Given the description of an element on the screen output the (x, y) to click on. 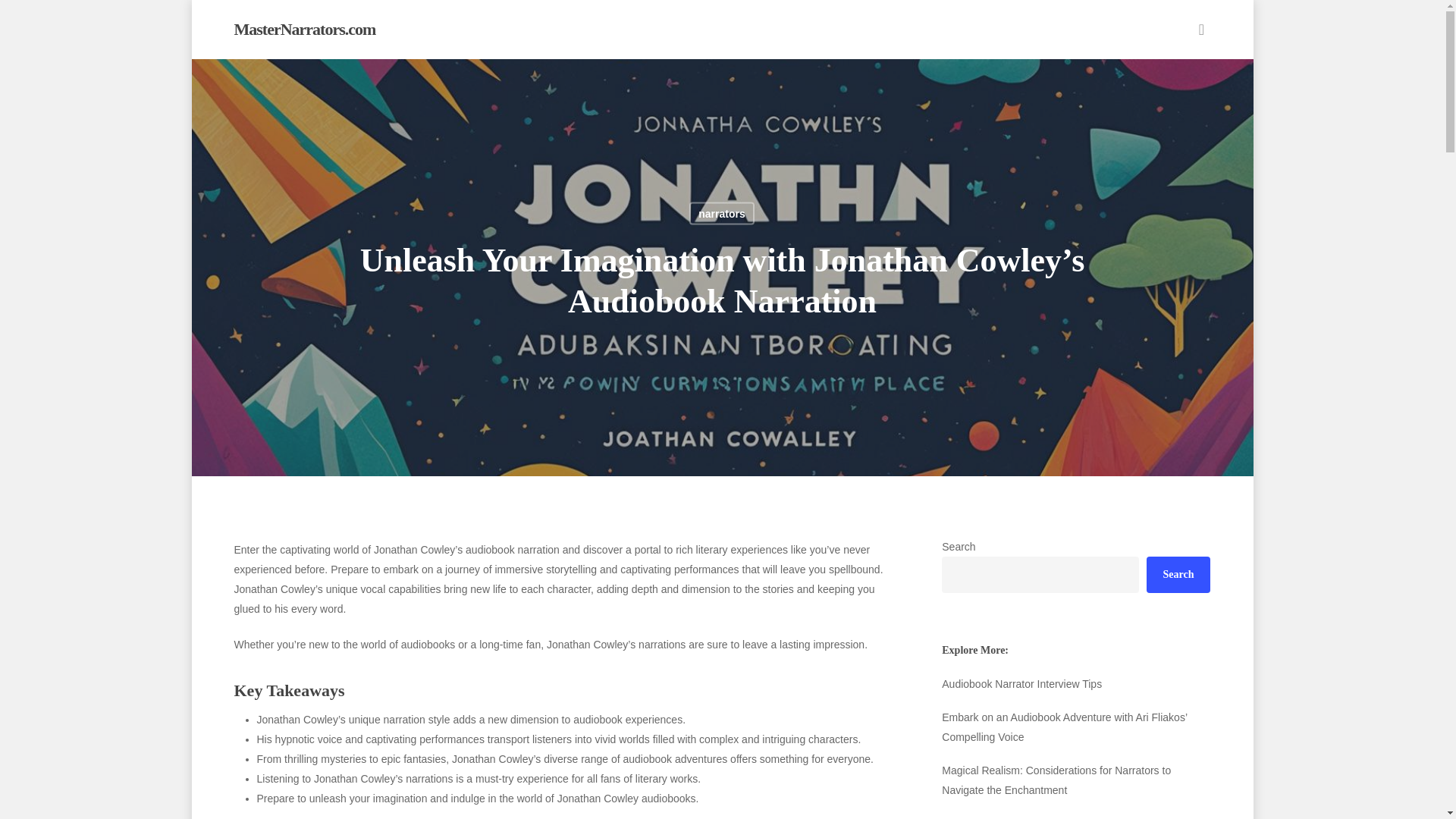
Search (1179, 574)
search (1200, 28)
Audiobook Narrator Interview Tips (1075, 683)
narrators (721, 212)
MasterNarrators.com (303, 29)
Tim Gerard Reynolds: The Voice of Fantasy (1075, 816)
